Given the description of an element on the screen output the (x, y) to click on. 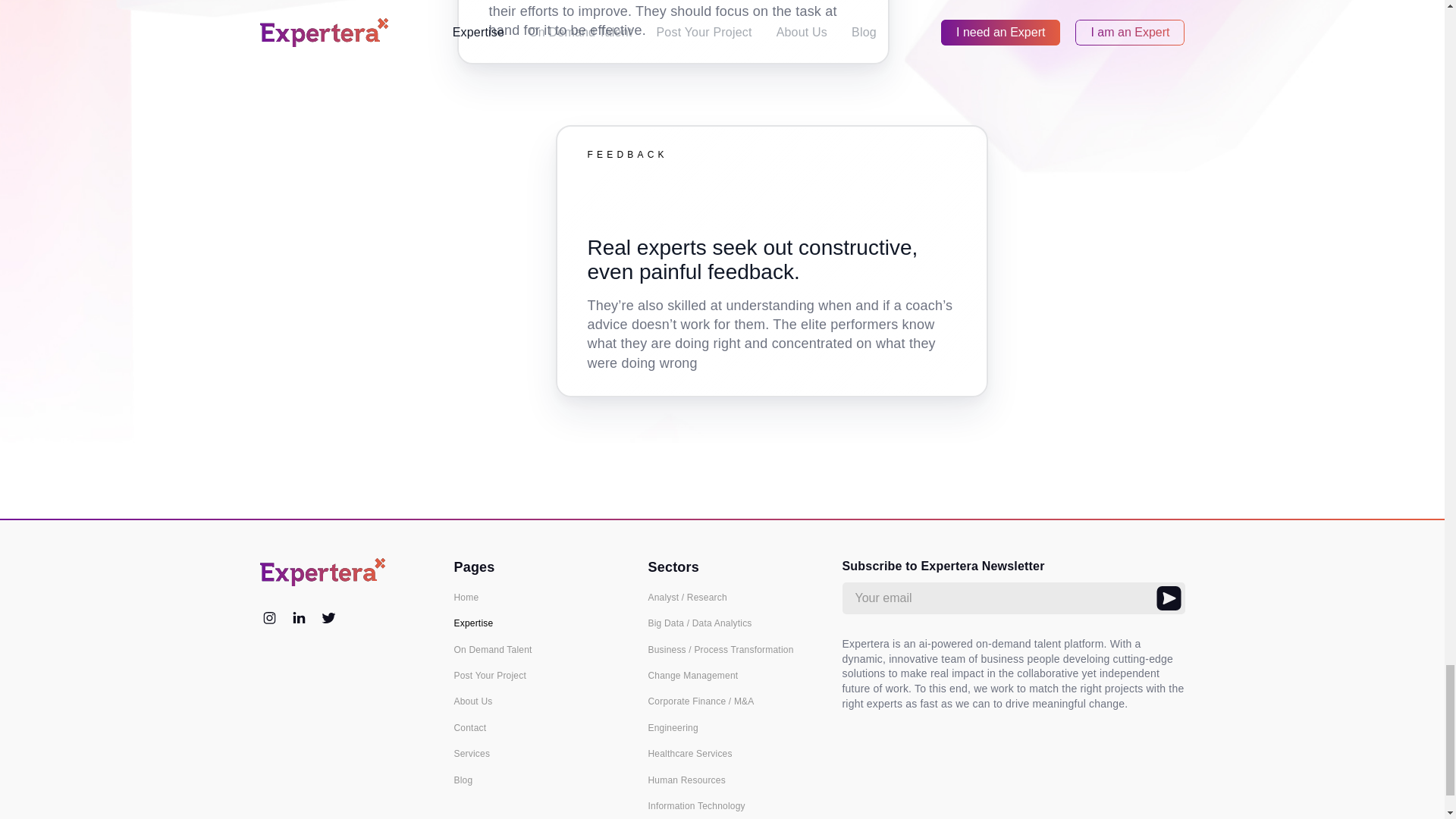
On Demand Talent (538, 649)
Home (538, 597)
Expertise (538, 623)
